Given the description of an element on the screen output the (x, y) to click on. 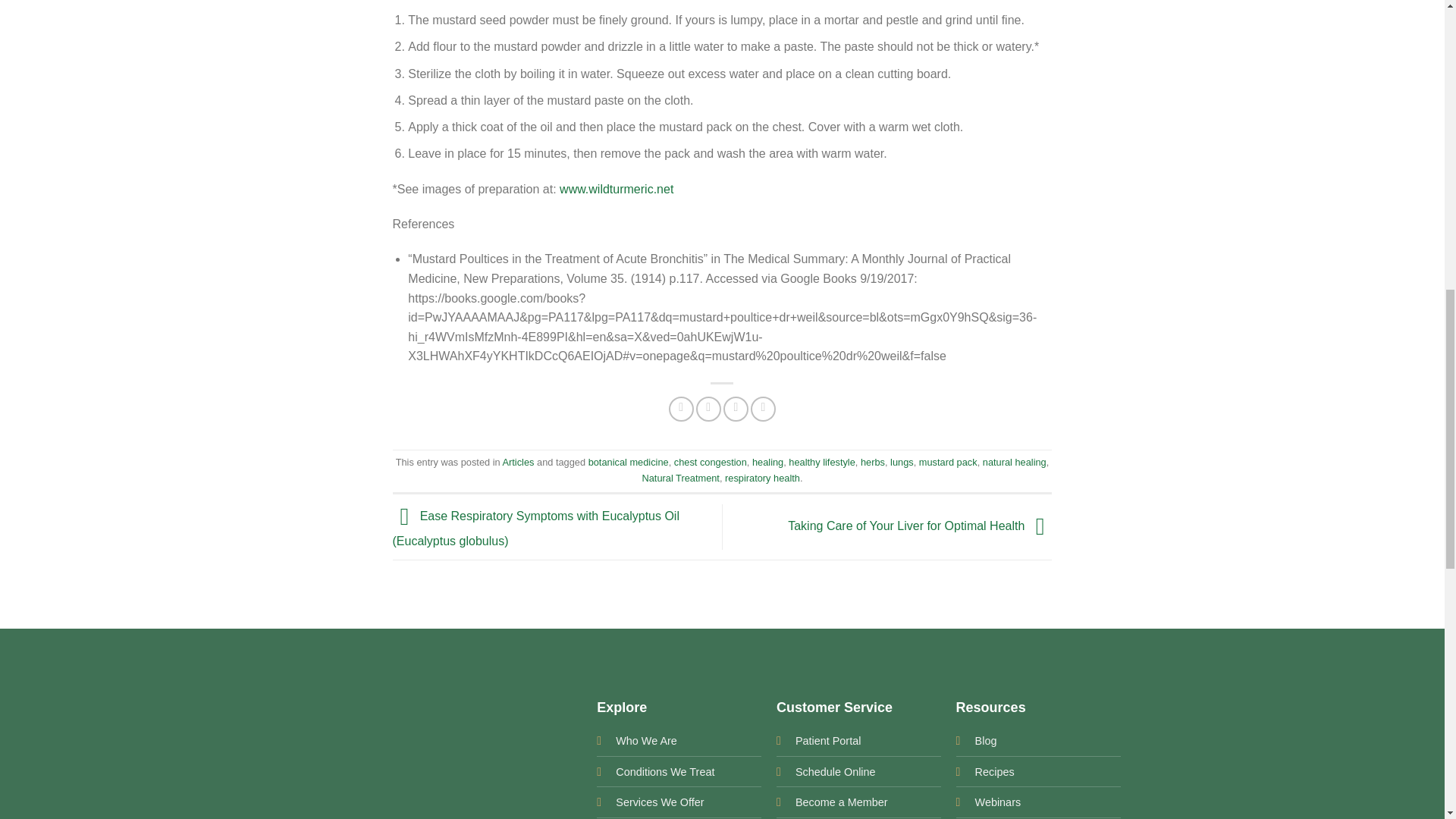
Email to a Friend (735, 408)
Pin on Pinterest (763, 408)
Share on Twitter (707, 408)
Share on Facebook (681, 408)
